Given the description of an element on the screen output the (x, y) to click on. 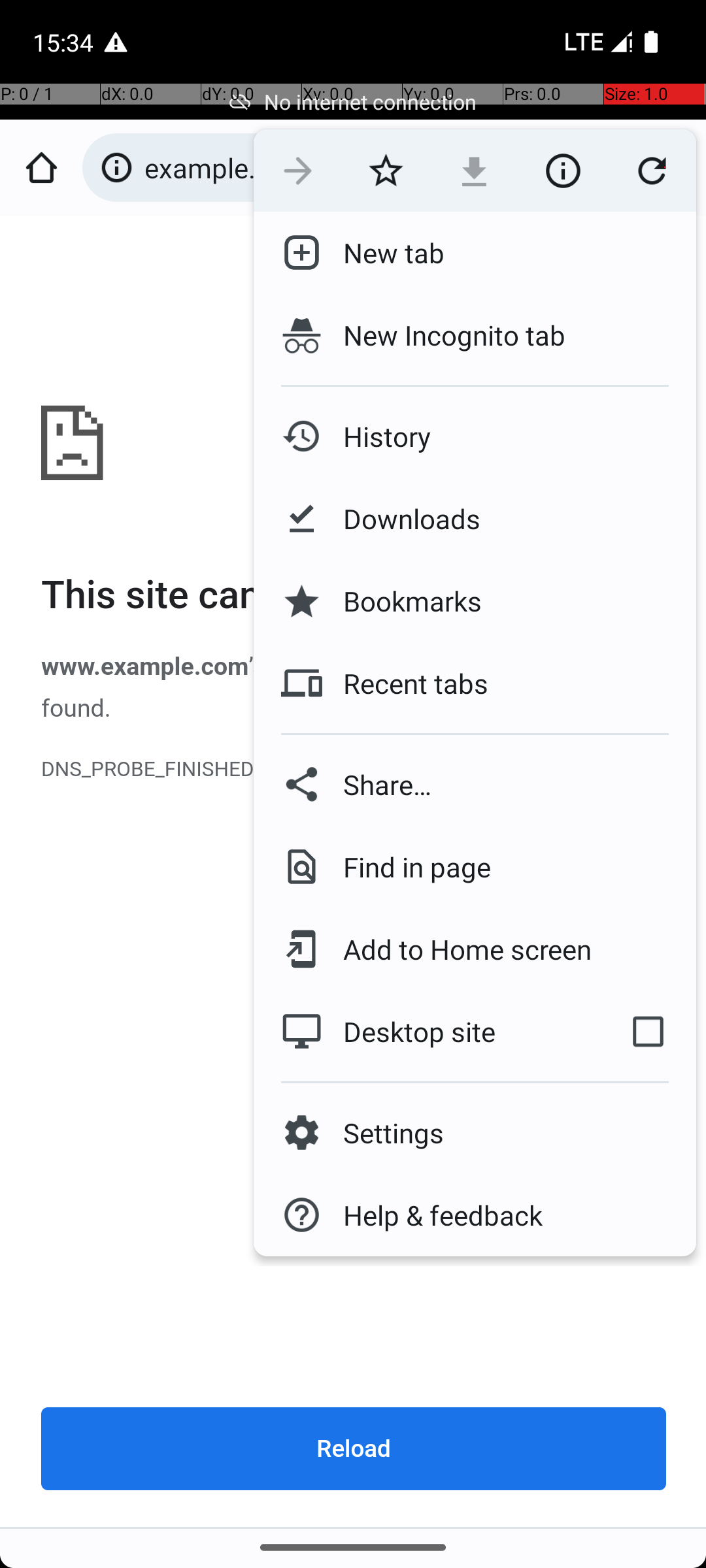
Forward Element type: android.widget.ImageButton (297, 170)
Bookmark Element type: android.widget.ImageButton (385, 170)
Download Element type: android.widget.ImageButton (474, 170)
Page info Element type: android.widget.ImageButton (562, 170)
Stop refreshing Element type: android.widget.ImageButton (651, 170)
New tab Element type: android.widget.TextView (383, 252)
New Incognito tab Element type: android.widget.TextView (474, 335)
History Element type: android.widget.TextView (376, 436)
Downloads Element type: android.widget.TextView (401, 518)
Bookmarks Element type: android.widget.TextView (401, 600)
Recent tabs Element type: android.widget.TextView (405, 683)
Share… Element type: android.widget.TextView (474, 784)
Find in page Element type: android.widget.TextView (406, 866)
Add to Home screen Element type: android.widget.TextView (457, 949)
Desktop site Element type: android.widget.TextView (426, 1031)
Help & feedback Element type: android.widget.TextView (432, 1215)
